Given the description of an element on the screen output the (x, y) to click on. 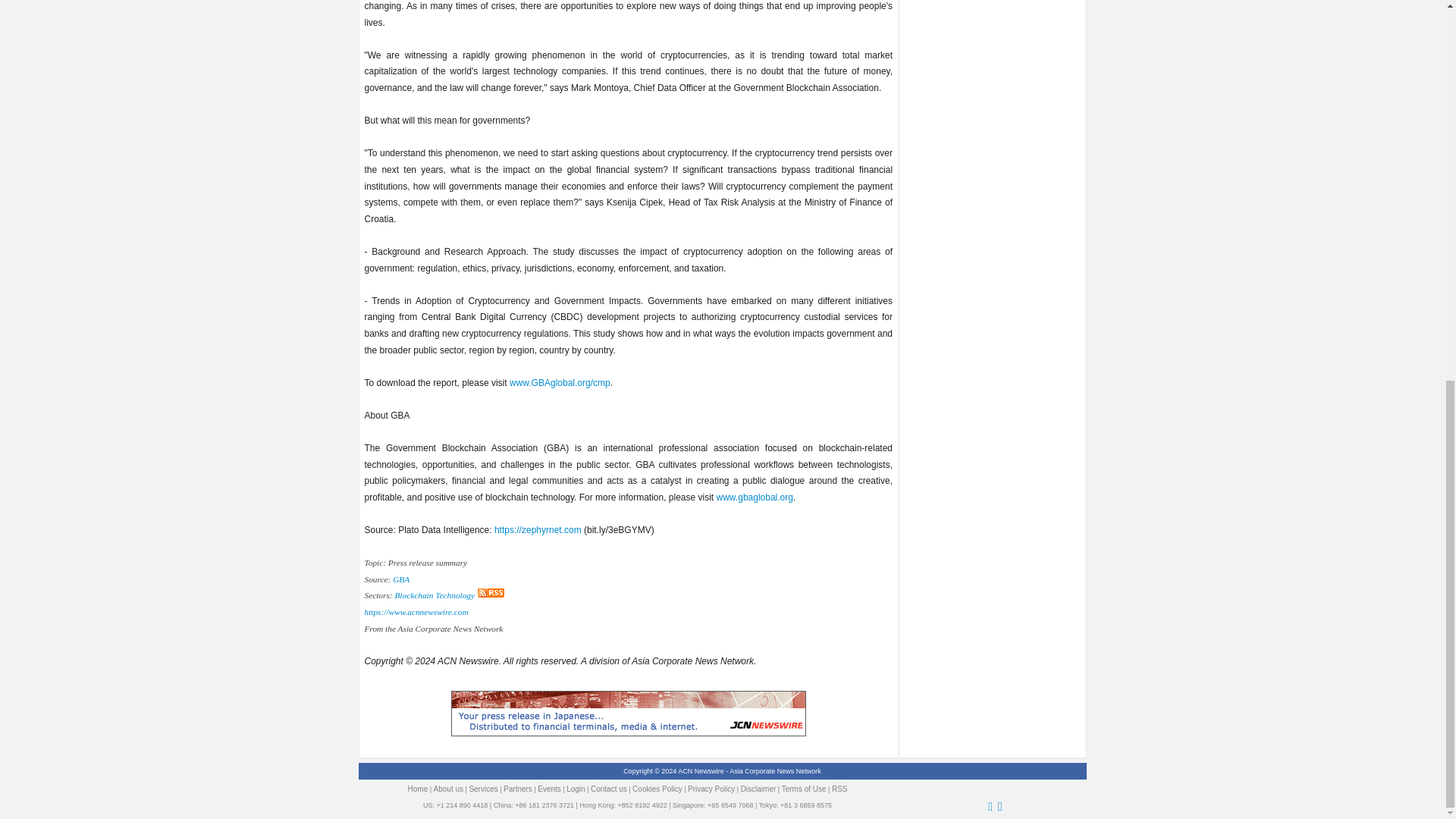
About us (448, 788)
Blockchain Technology (434, 594)
Partners (517, 788)
Home (417, 788)
www.gbaglobal.org (754, 497)
GBA (401, 578)
Services (482, 788)
Login (575, 788)
Events (548, 788)
